Given the description of an element on the screen output the (x, y) to click on. 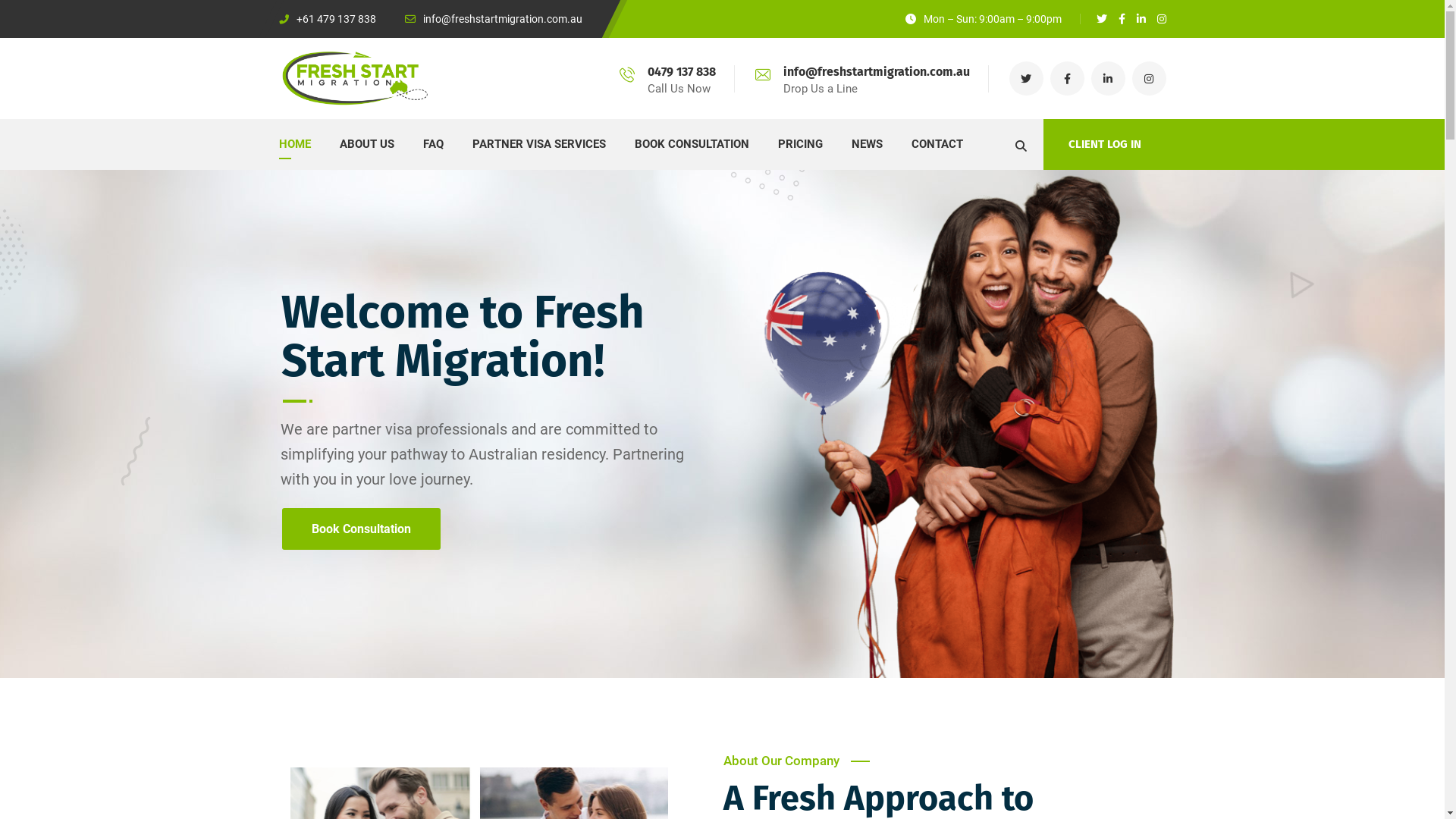
NEWS Element type: text (865, 144)
info@freshstartmigration.com.au Element type: text (493, 18)
FAQ Element type: text (433, 144)
Book Consultation Element type: text (361, 528)
PRICING Element type: text (800, 144)
PARTNER VISA SERVICES Element type: text (538, 144)
+61 479 137 838 Element type: text (327, 18)
CONTACT Element type: text (937, 144)
BOOK CONSULTATION Element type: text (690, 144)
info@freshstartmigration.com.au Element type: text (875, 71)
Fresh Start Migration Element type: hover (354, 78)
HOME Element type: text (294, 144)
CLIENT LOG IN Element type: text (1104, 144)
ABOUT US Element type: text (366, 144)
0479 137 838 Element type: text (681, 71)
